Given the description of an element on the screen output the (x, y) to click on. 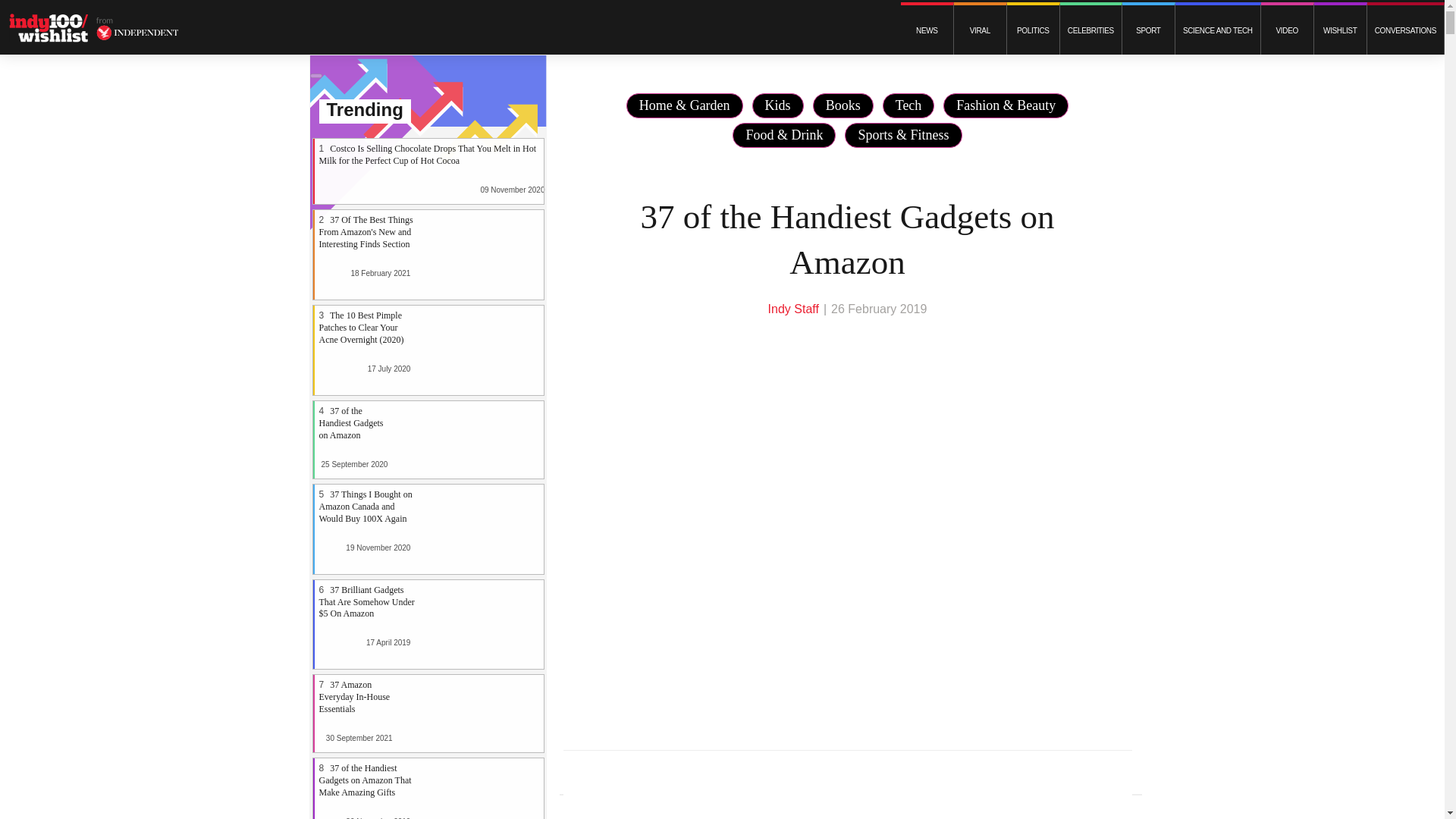
Viral (979, 30)
Science and Tech (1217, 30)
CONVERSATIONS (1405, 30)
Books (842, 105)
SCIENCE AND TECH (1217, 30)
Celebrities (1090, 30)
VIRAL (979, 30)
Conversations (1405, 30)
Wishlist (1340, 30)
WISHLIST (1340, 30)
Video (1286, 30)
Indy Staff (793, 308)
NEWS (927, 30)
Sport (1148, 30)
Kids (777, 105)
